Given the description of an element on the screen output the (x, y) to click on. 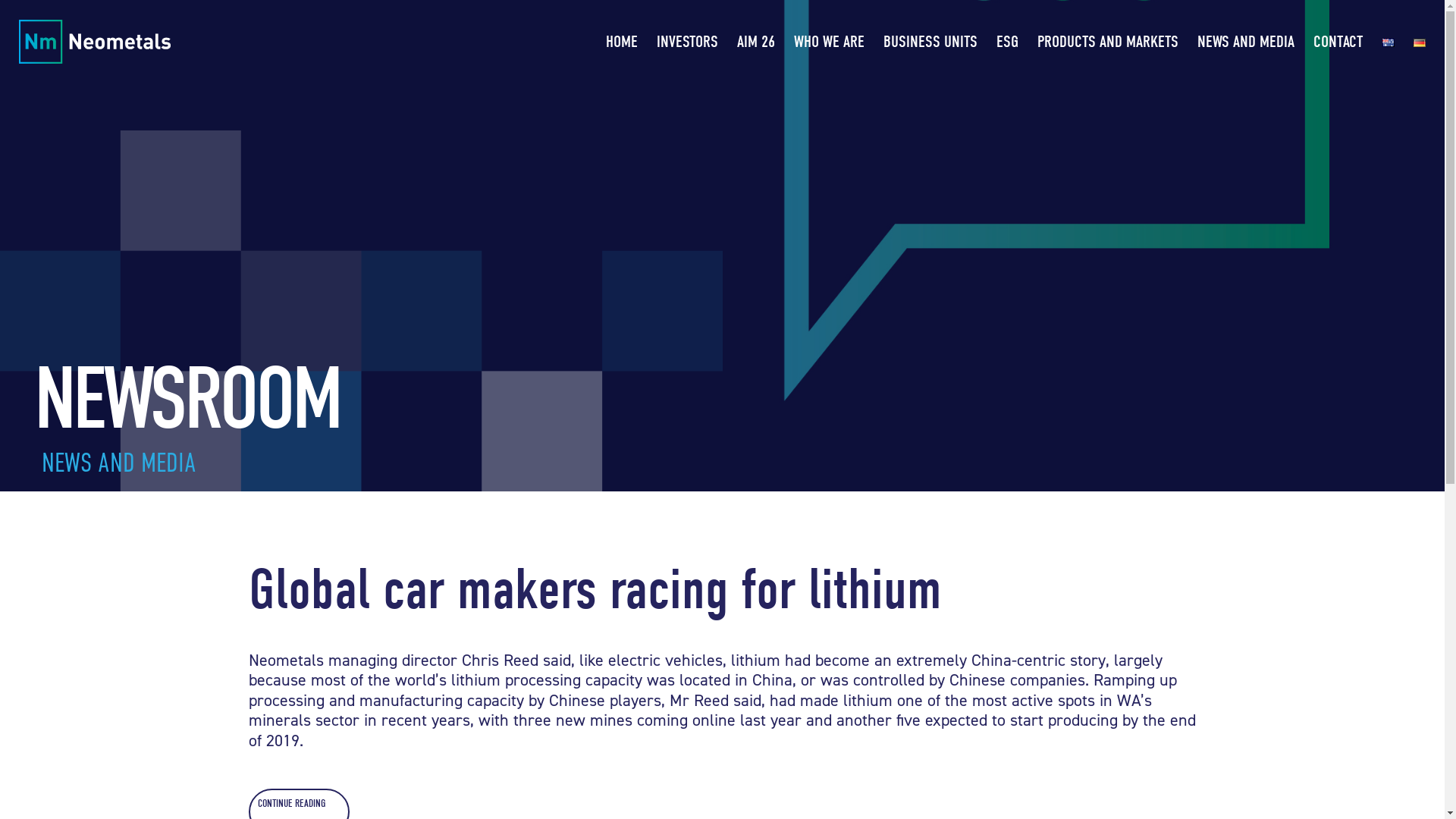
ESG Element type: text (1007, 41)
PRODUCTS AND MARKETS Element type: text (1107, 41)
WHO WE ARE Element type: text (828, 41)
AIM 26 Element type: text (756, 41)
Deutsch Element type: hover (1419, 42)
NEWS AND MEDIA Element type: text (1245, 41)
HOME Element type: text (621, 41)
CONTACT Element type: text (1338, 41)
English Element type: hover (1388, 42)
BUSINESS UNITS Element type: text (930, 41)
INVESTORS Element type: text (687, 41)
